Given the description of an element on the screen output the (x, y) to click on. 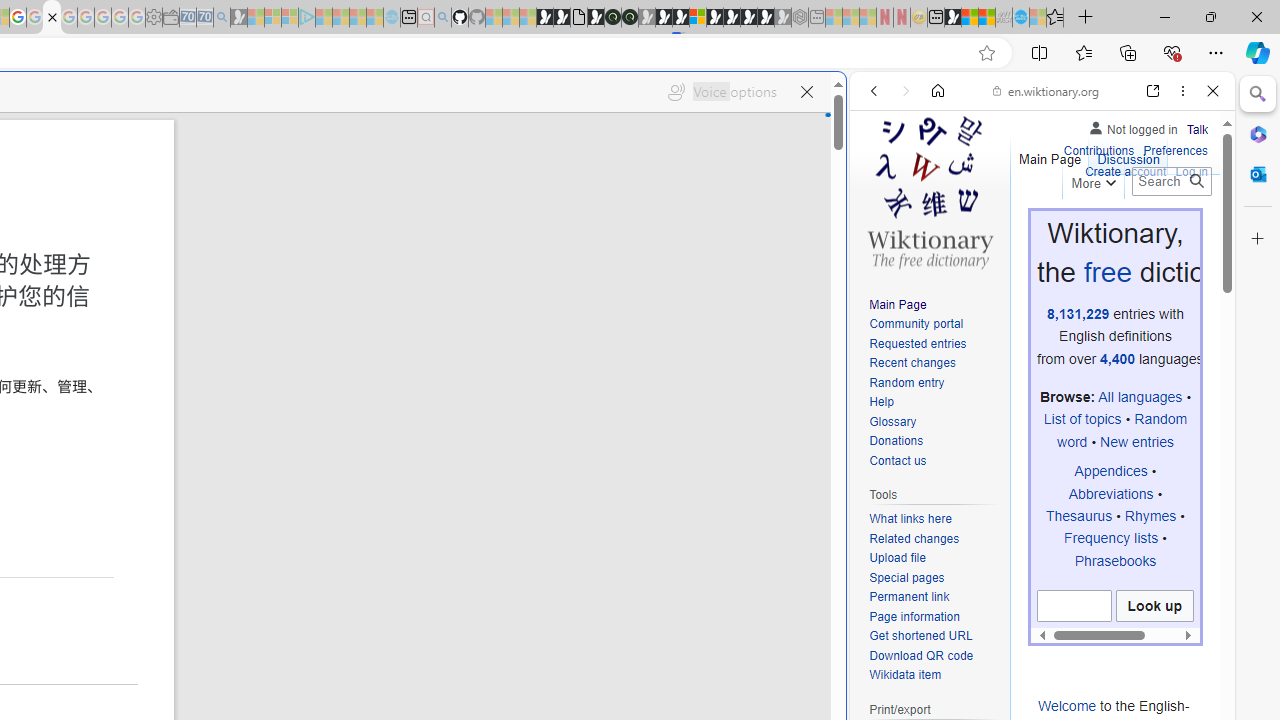
What links here (910, 519)
Requested entries (934, 344)
Contact us (934, 461)
Visit the main page (929, 190)
Forward (906, 91)
Preferences (1175, 151)
Random entry (934, 382)
Open link in new tab (1153, 91)
Go (1196, 181)
Frequency lists (1110, 538)
Preferences (1175, 148)
